Given the description of an element on the screen output the (x, y) to click on. 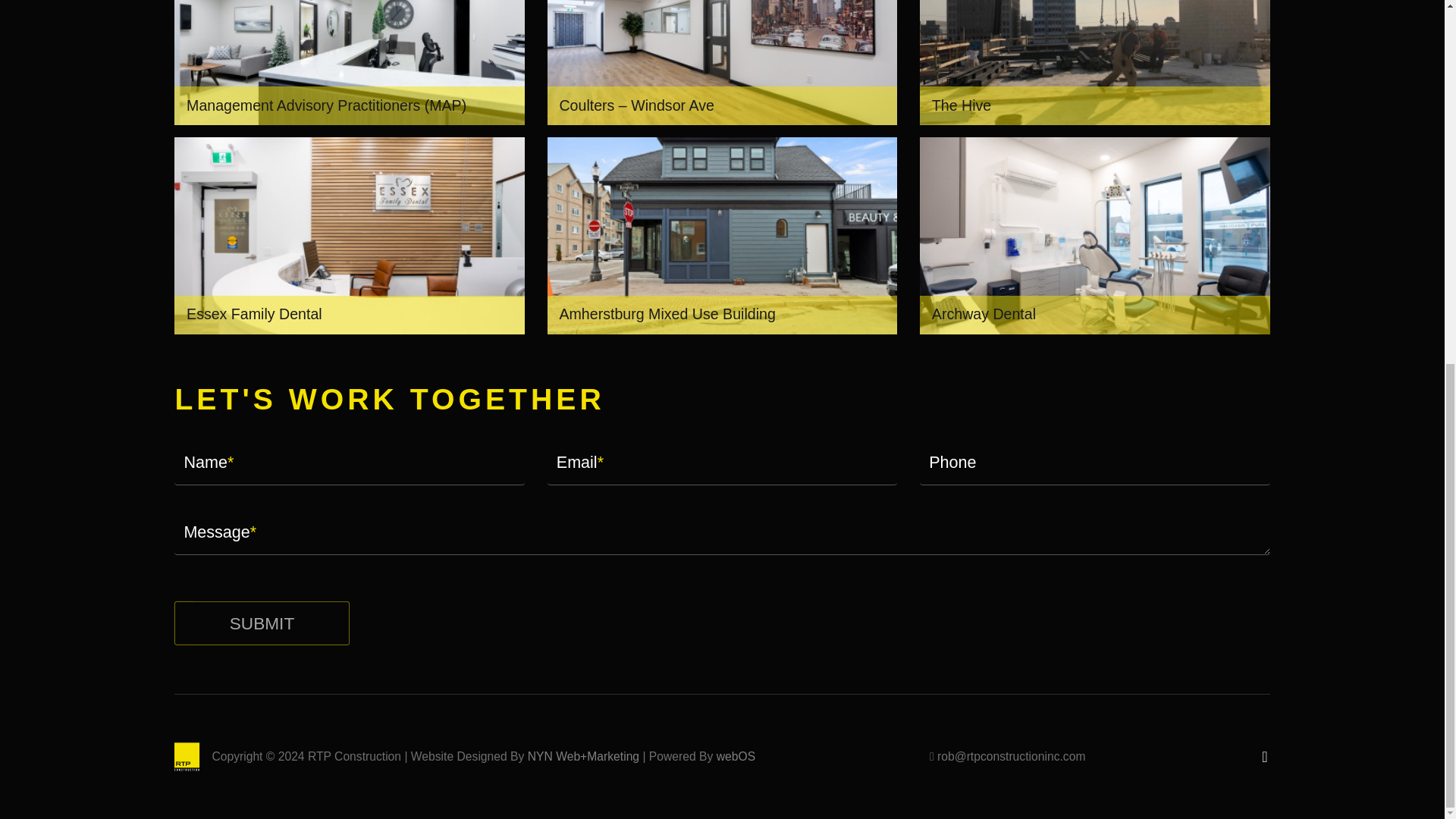
Submit (287, 629)
webOS (735, 756)
Message (721, 532)
Amherstburg Mixed Use Building (721, 235)
The Hive (1094, 63)
Archway Dental (1094, 235)
Name (349, 462)
The Hive (1094, 63)
Essex Family Dental (349, 235)
Email (721, 462)
Phone (1094, 462)
Submit (287, 629)
Archway Dental (1094, 235)
Amherstburg Mixed Use Building (721, 235)
Essex Family Dental (349, 235)
